Given the description of an element on the screen output the (x, y) to click on. 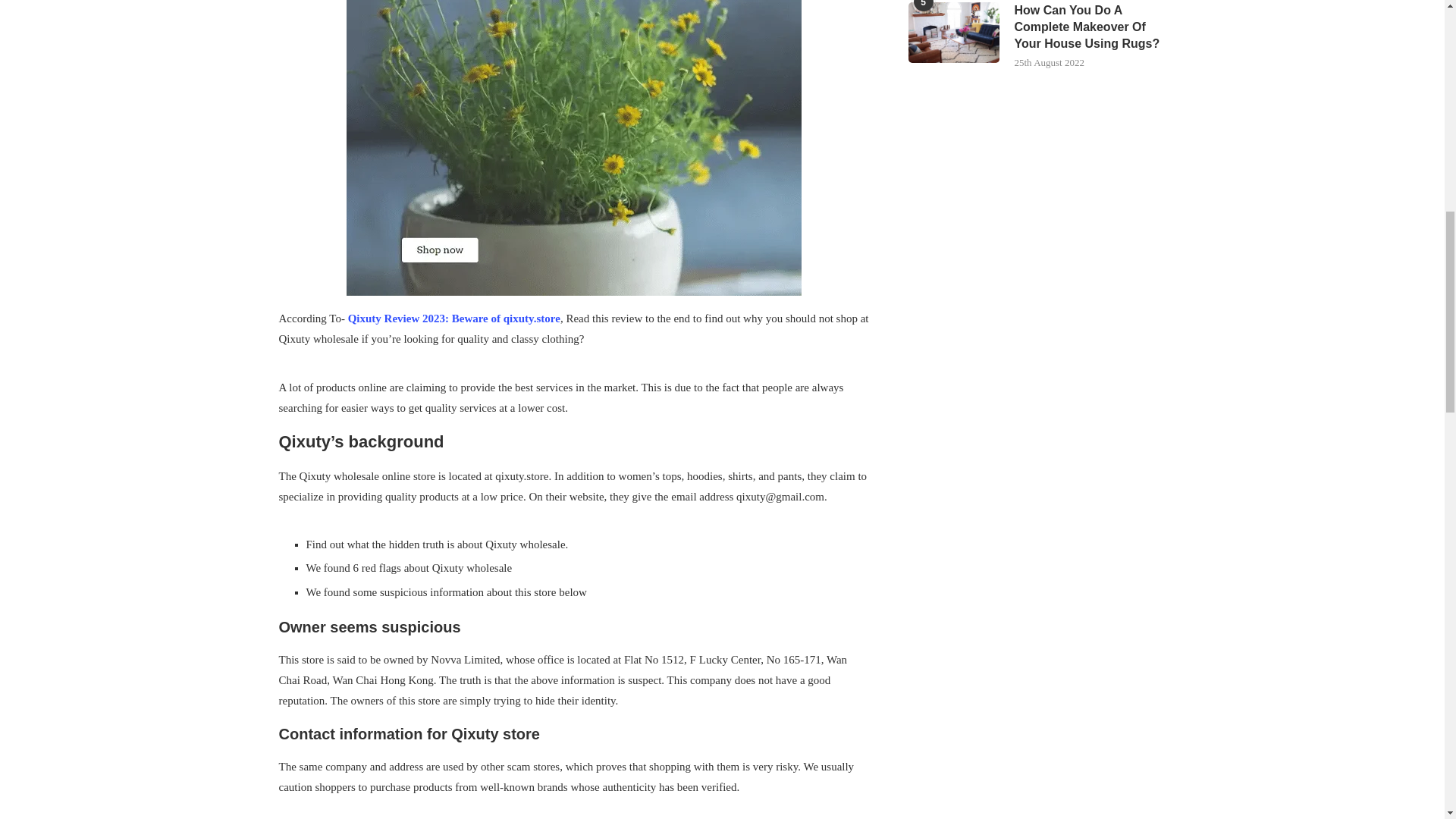
Qixuty Review 2023: Beware of qixuty.store (453, 318)
